Given the description of an element on the screen output the (x, y) to click on. 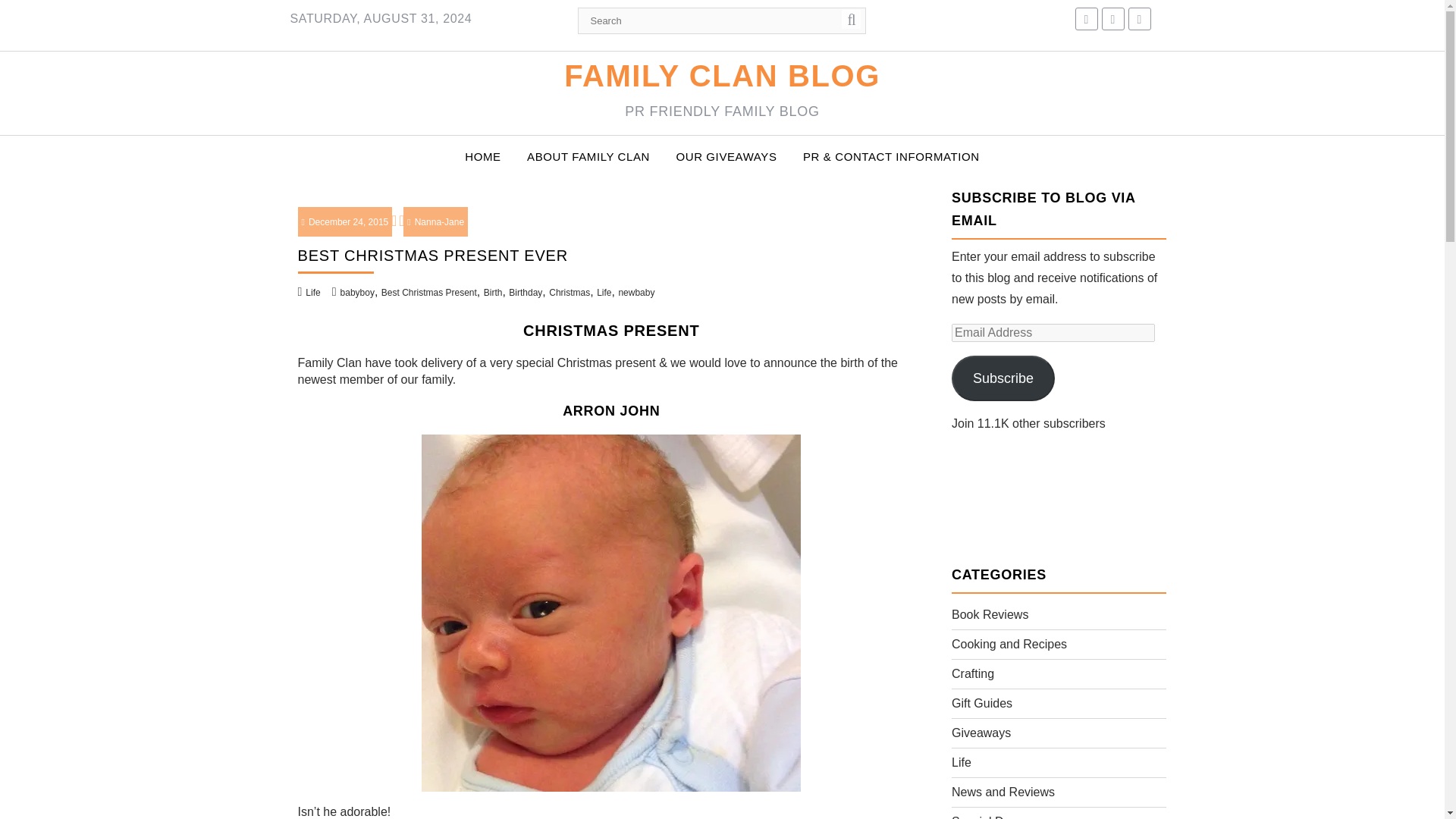
HOME (482, 156)
FAMILY CLAN BLOG (722, 75)
December 24, 2015 (344, 222)
ABOUT FAMILY CLAN (588, 156)
Family Clan Giveaways (725, 156)
Nanna-Jane (435, 222)
babyboy (357, 292)
Life (312, 292)
OUR GIVEAWAYS (725, 156)
About Family Clan (588, 156)
